Given the description of an element on the screen output the (x, y) to click on. 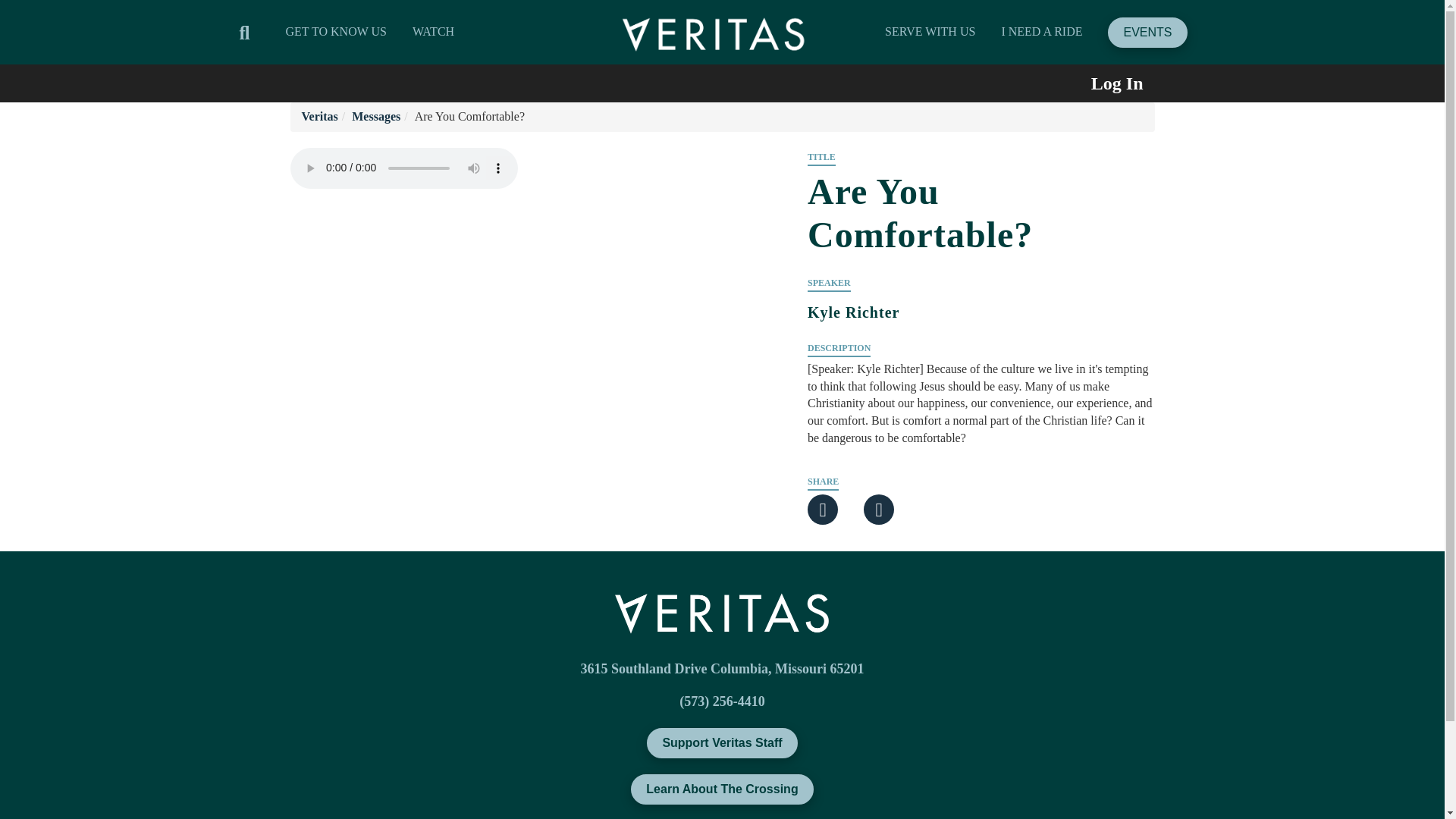
GET TO KNOW US (336, 31)
Support Veritas Staff (721, 743)
Messages (376, 115)
Learn About The Crossing (721, 788)
WATCH (433, 31)
Kyle Richter (981, 333)
Veritas (319, 115)
I NEED A RIDE (1041, 31)
EVENTS (1147, 31)
SERVE WITH US (930, 31)
3615 Southland Drive Columbia, Missouri 65201 (721, 668)
Log In (1093, 83)
